Given the description of an element on the screen output the (x, y) to click on. 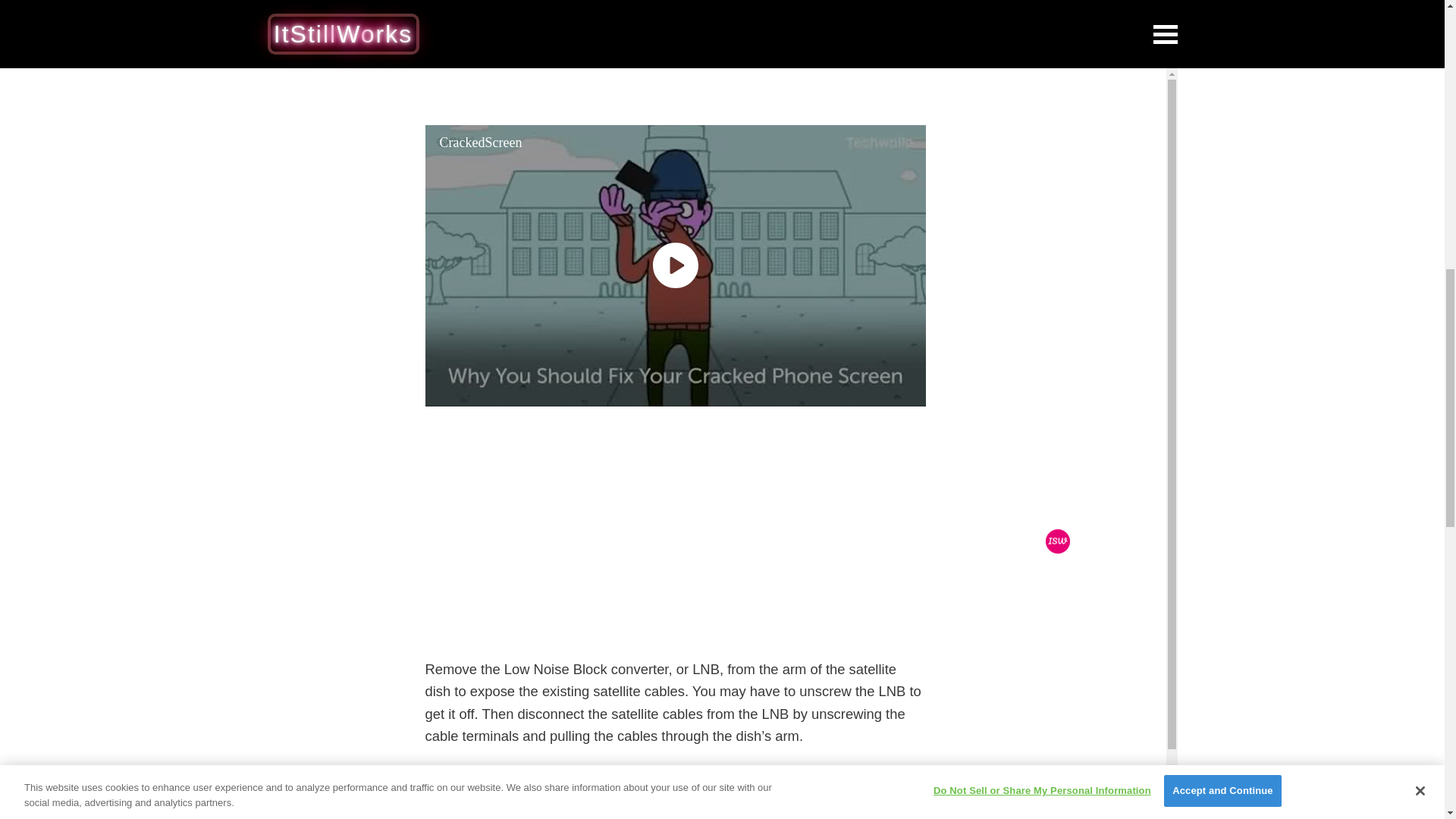
3rd party ad content (674, 50)
